Given the description of an element on the screen output the (x, y) to click on. 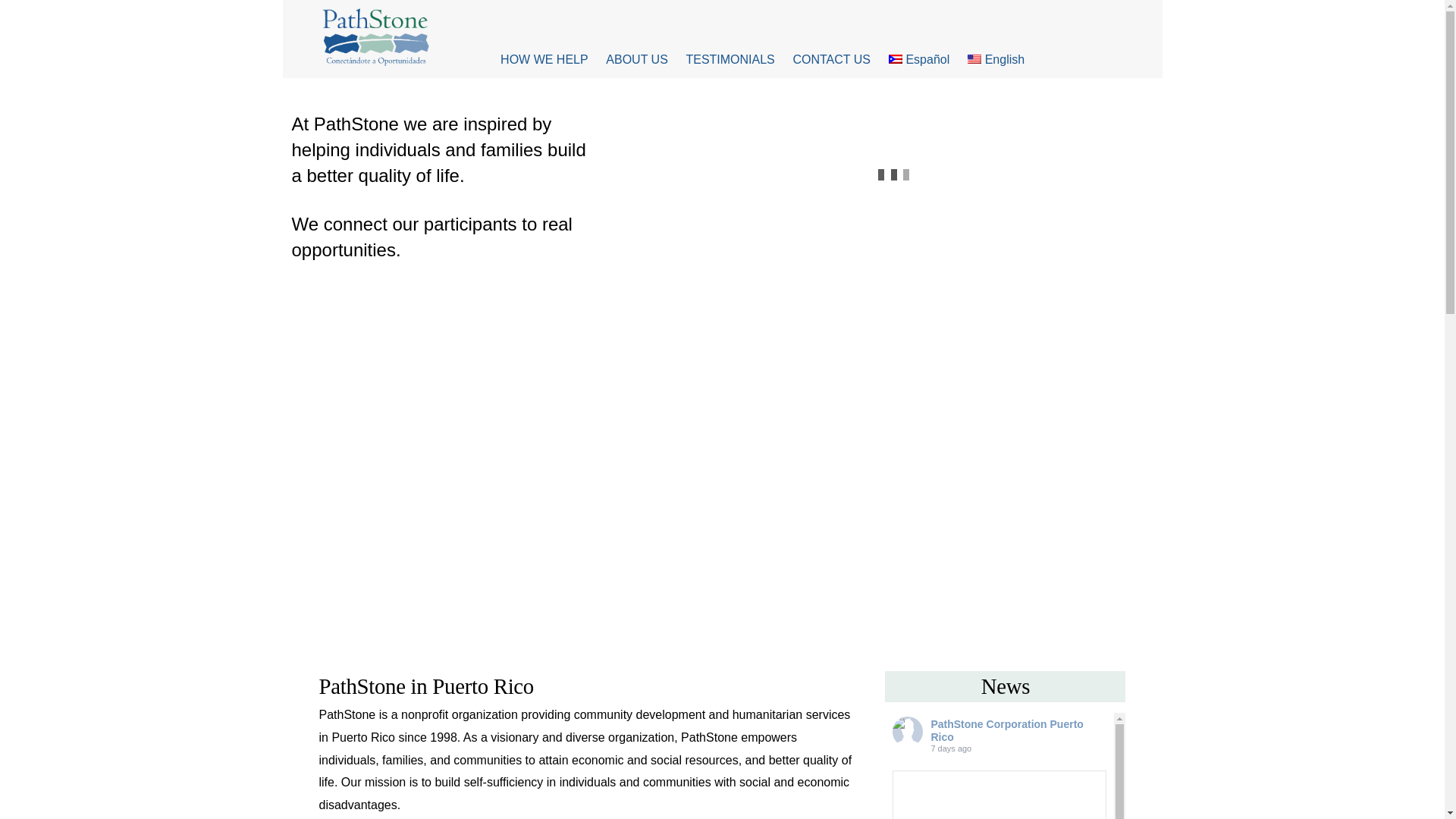
PathStone Corporation Puerto Rico (907, 731)
TESTIMONIALS (730, 59)
CONTACT US (831, 59)
PathStone - Puerto Rico (375, 61)
PathStone - Puerto Rico (375, 36)
English (994, 59)
HOW WE HELP (544, 59)
PathStone Corporation Puerto Rico (1006, 730)
ABOUT US (636, 59)
English (994, 59)
